Given the description of an element on the screen output the (x, y) to click on. 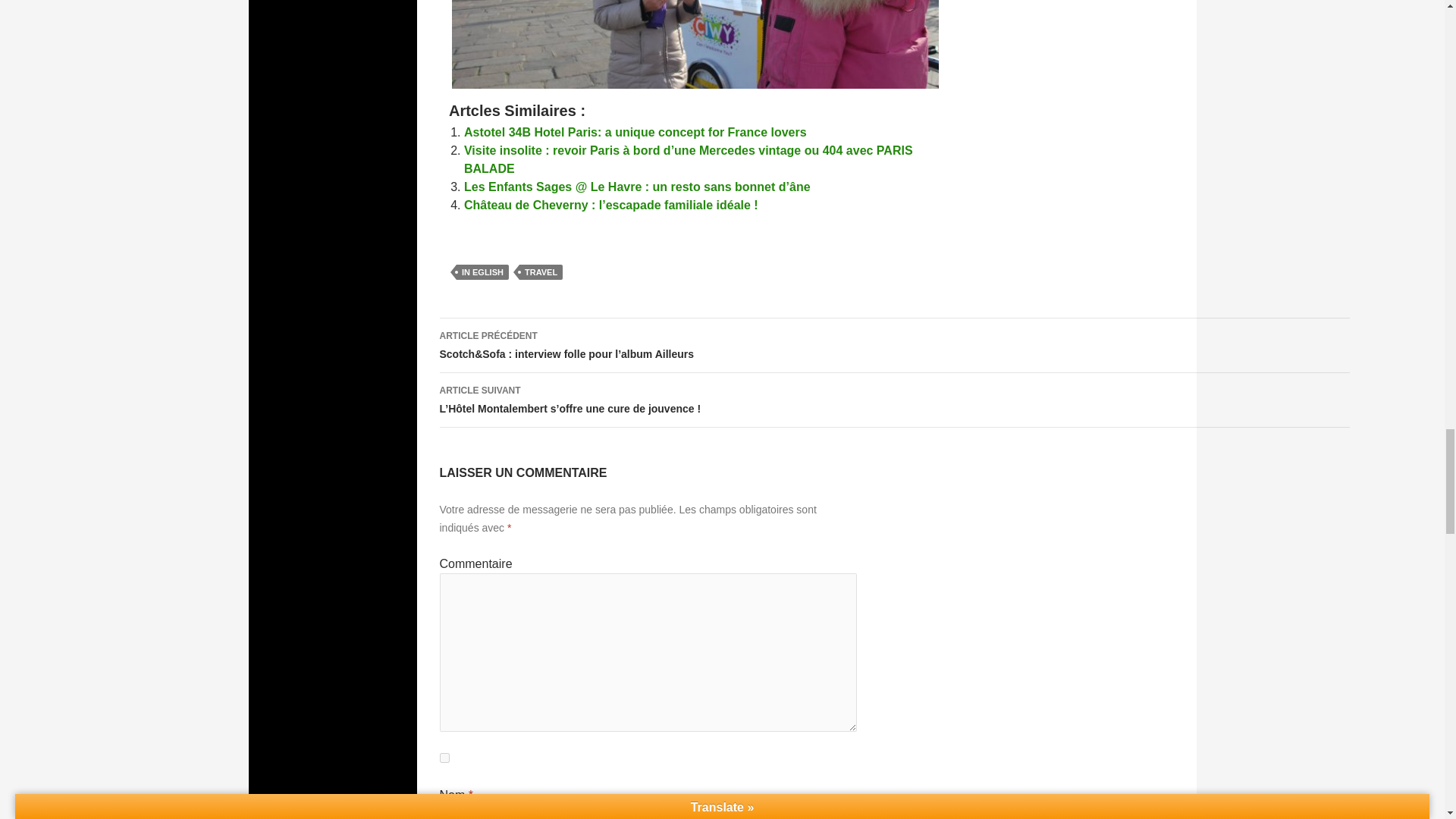
subscribe (444, 757)
Astotel 34B Hotel Paris: a unique concept for France lovers (635, 132)
